Given the description of an element on the screen output the (x, y) to click on. 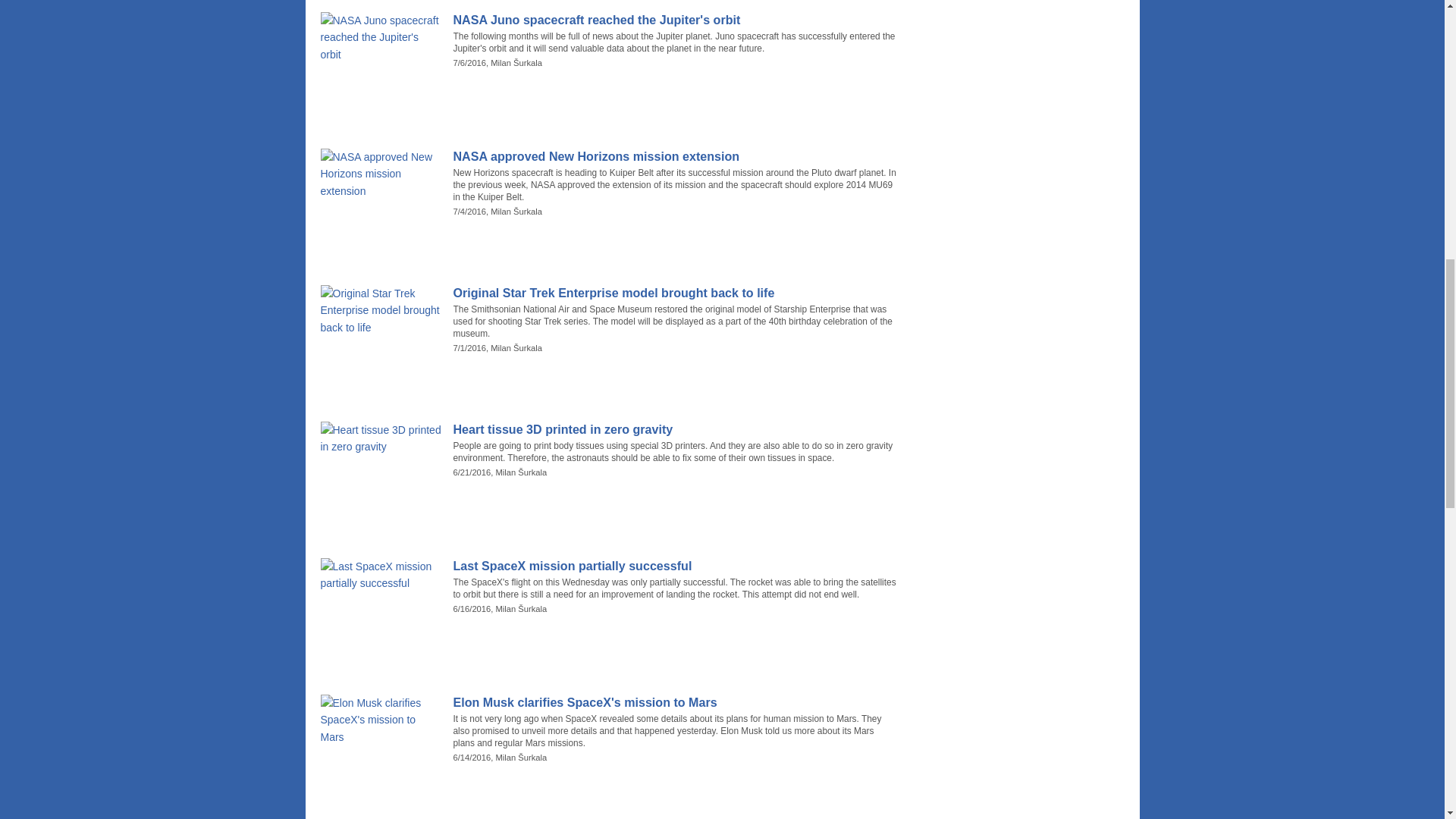
NASA Juno spacecraft reached the Jupiter's orbit (674, 19)
Original Star Trek Enterprise model brought back to life (674, 293)
NASA approved New Horizons mission extension (674, 156)
NASA approved New Horizons mission extension (674, 156)
Elon Musk clarifies SpaceX's mission to Mars (674, 702)
Elon Musk clarifies SpaceX's mission to Mars (674, 702)
Heart tissue 3D printed in zero gravity (674, 429)
Original Star Trek Enterprise model brought back to life (674, 293)
Heart tissue 3D printed in zero gravity (674, 429)
Last SpaceX mission partially successful (674, 565)
